Given the description of an element on the screen output the (x, y) to click on. 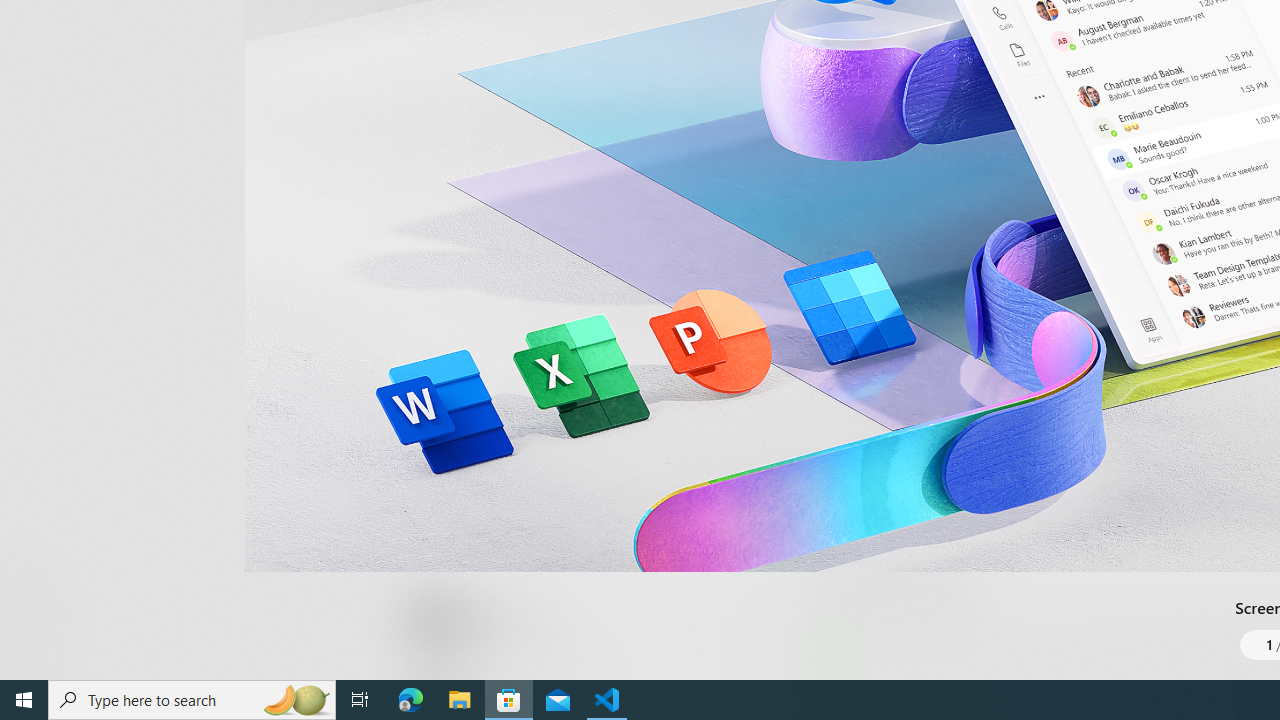
Age rating: EVERYONE. Click for more information. (506, 619)
Show all ratings and reviews (838, 207)
Show less (850, 518)
Library (35, 640)
Share (746, 632)
Show more (854, 674)
What's New (35, 578)
Productivity (579, 30)
